Given the description of an element on the screen output the (x, y) to click on. 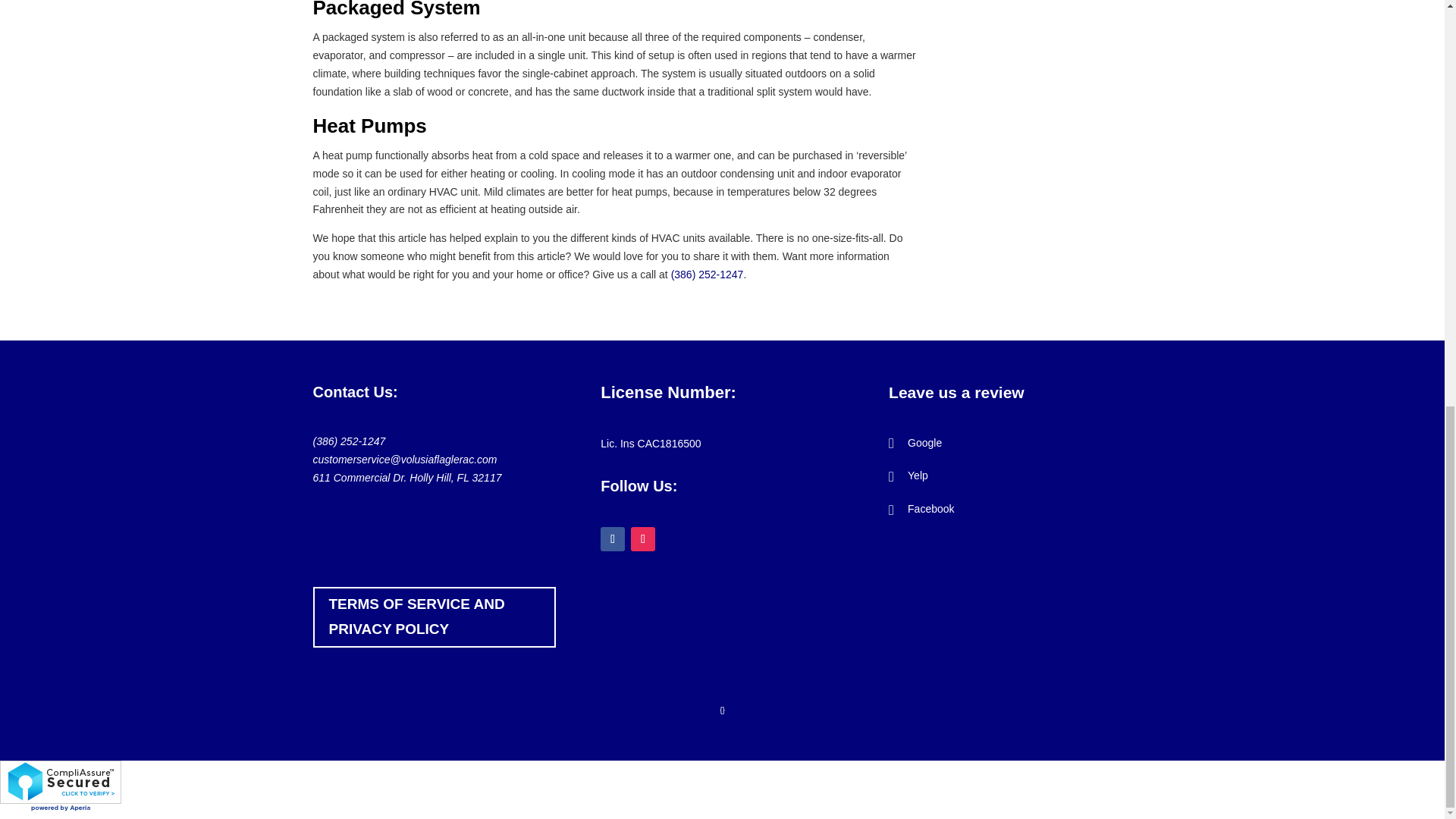
Follow on Instagram (642, 539)
Follow on Facebook (611, 539)
TERMS OF SERVICE AND PRIVACY POLICY (433, 617)
